Given the description of an element on the screen output the (x, y) to click on. 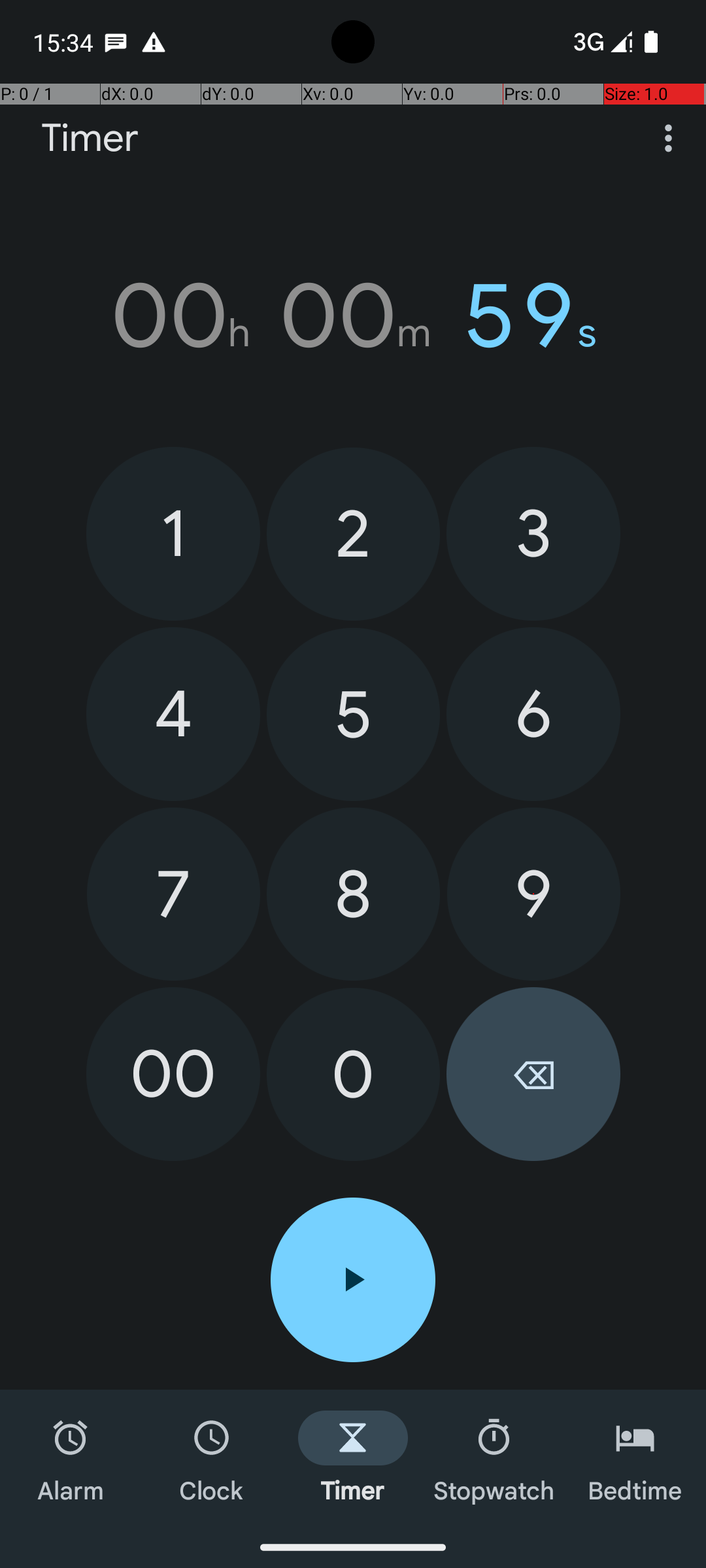
00h 00m 59s Element type: android.widget.TextView (353, 315)
